Given the description of an element on the screen output the (x, y) to click on. 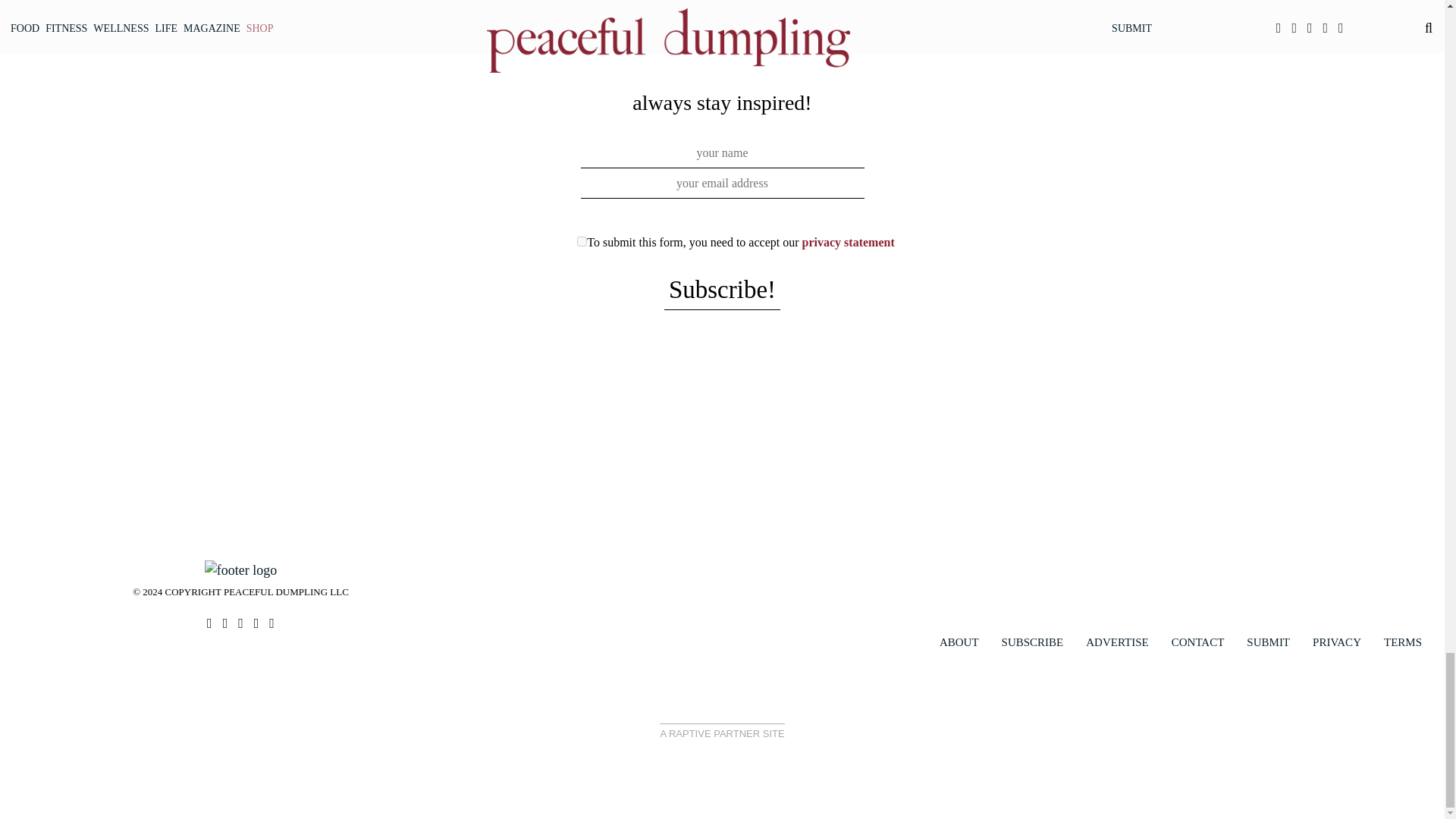
Subscribe! (721, 291)
Peaceful Dumpling (240, 568)
1 (581, 241)
